Given the description of an element on the screen output the (x, y) to click on. 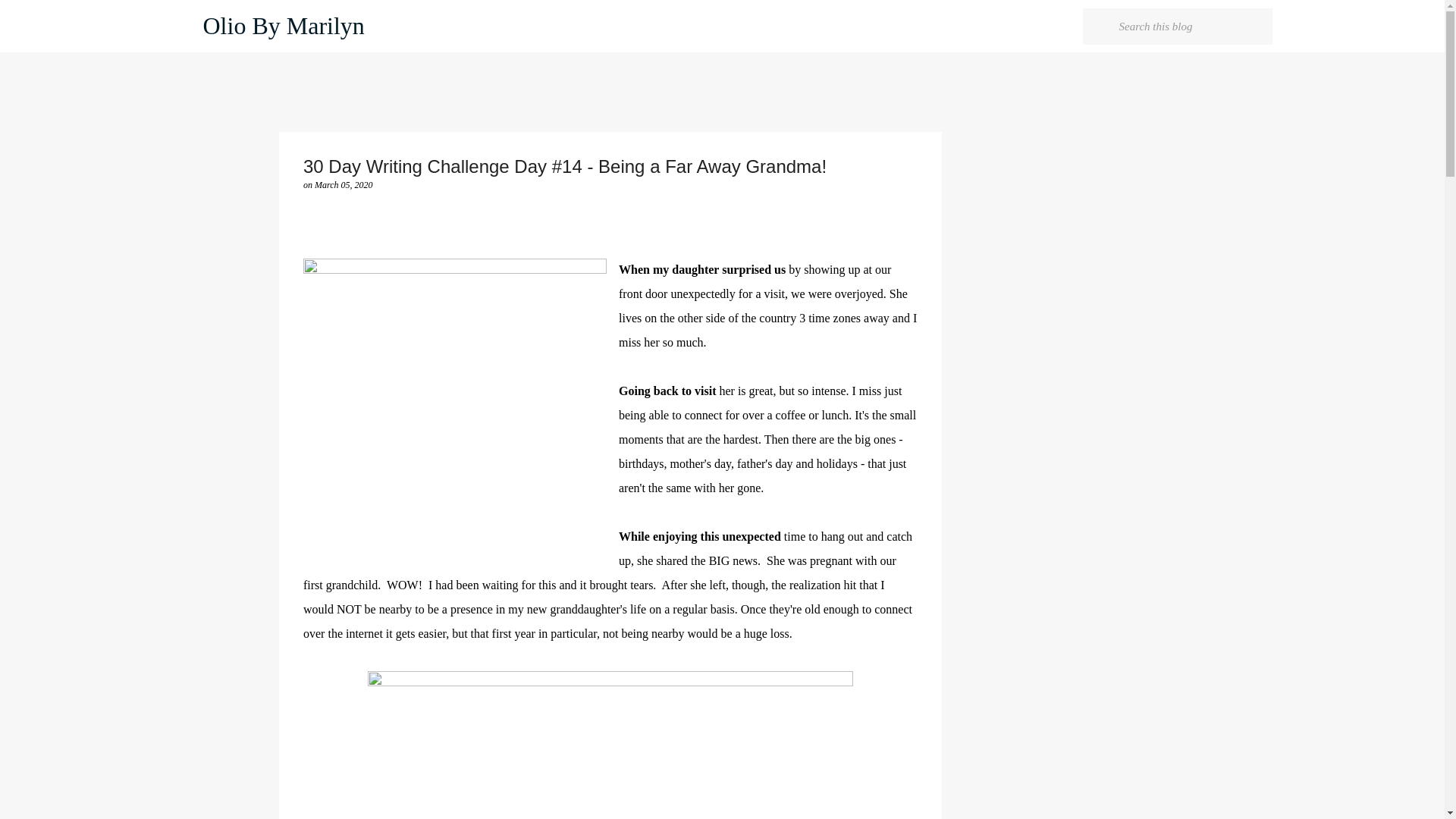
permanent link (343, 184)
Olio By Marilyn (284, 25)
March 05, 2020 (343, 184)
